Given the description of an element on the screen output the (x, y) to click on. 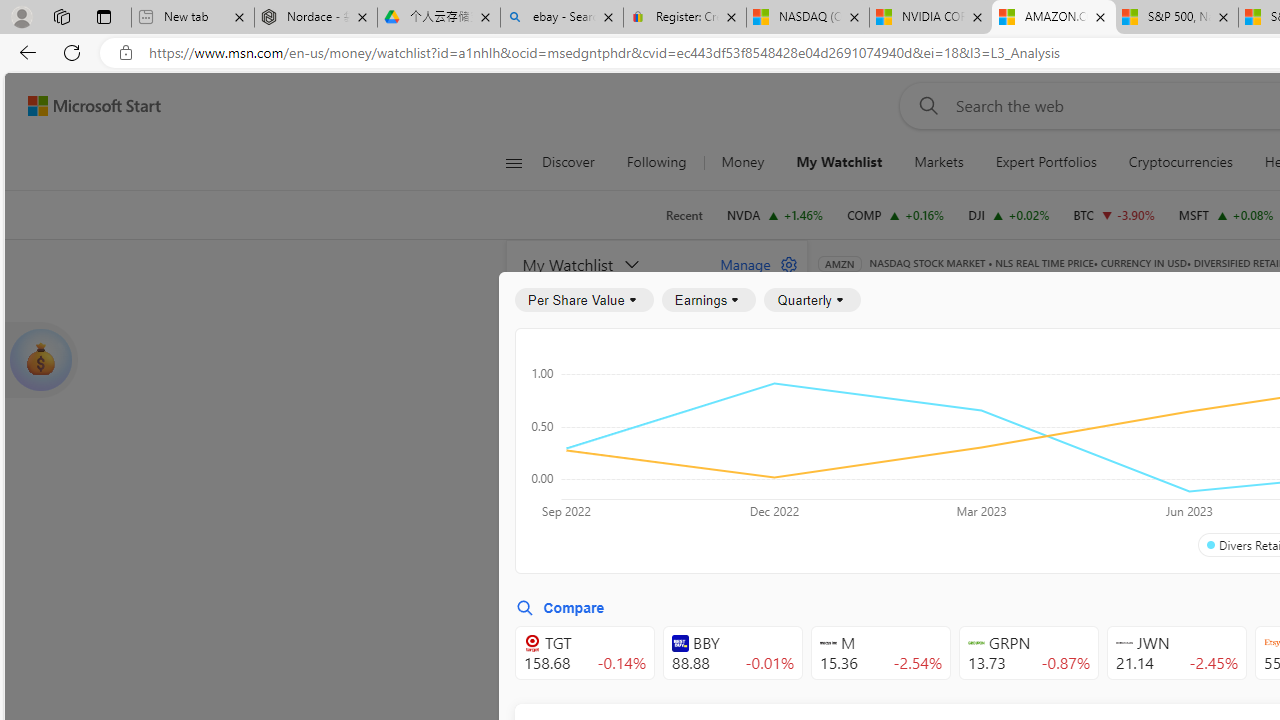
Balance Sheet (1079, 391)
Earnings (708, 300)
Key Ratios (867, 391)
Open navigation menu (513, 162)
Class: button-glyph (513, 162)
Skip to content (86, 105)
